Given the description of an element on the screen output the (x, y) to click on. 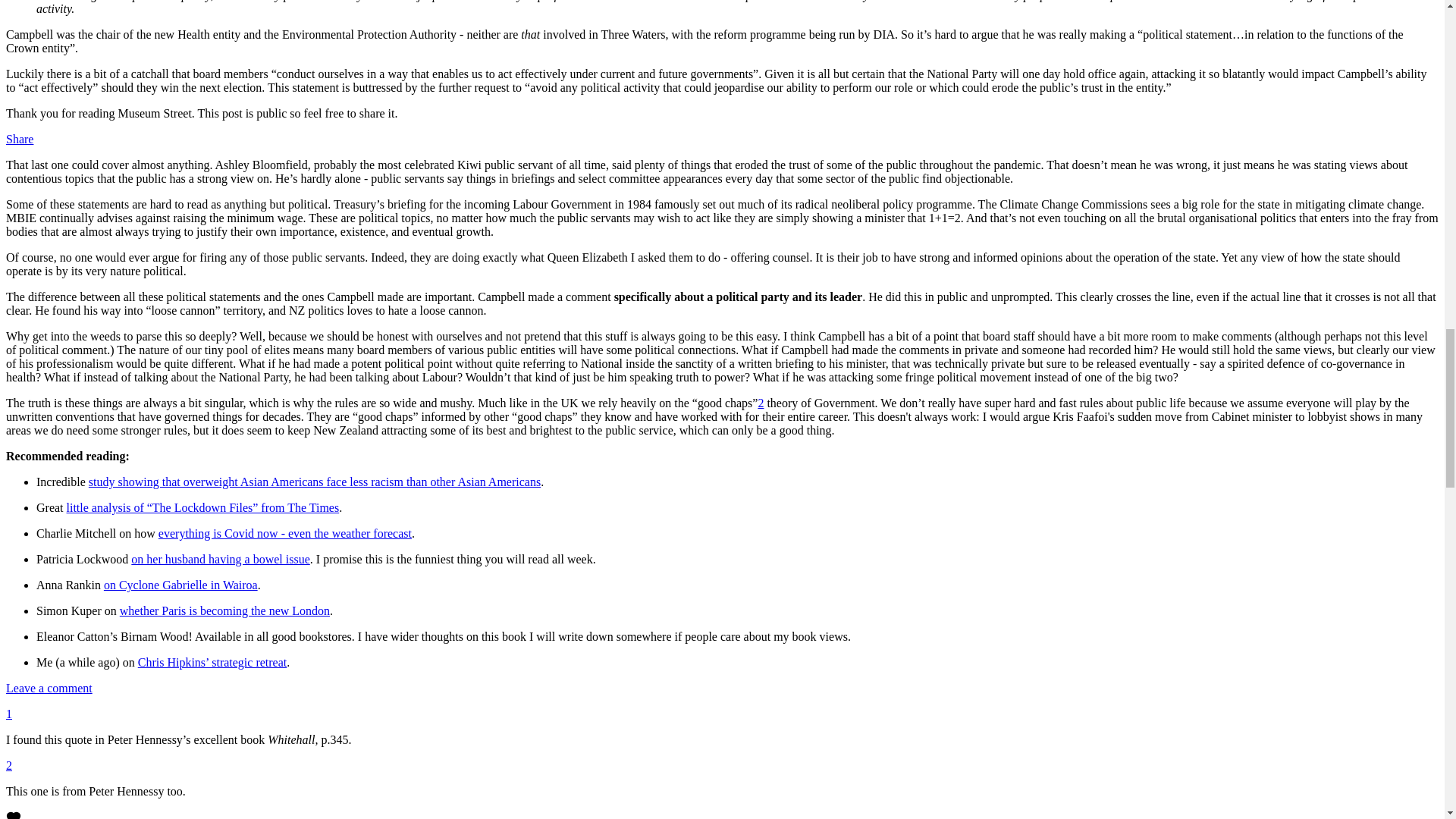
Share (19, 138)
whether Paris is becoming the new London (224, 610)
on Cyclone Gabrielle in Wairoa (180, 584)
on her husband having a bowel issue (220, 558)
Leave a comment (49, 687)
everything is Covid now - even the weather forecast (285, 533)
